Given the description of an element on the screen output the (x, y) to click on. 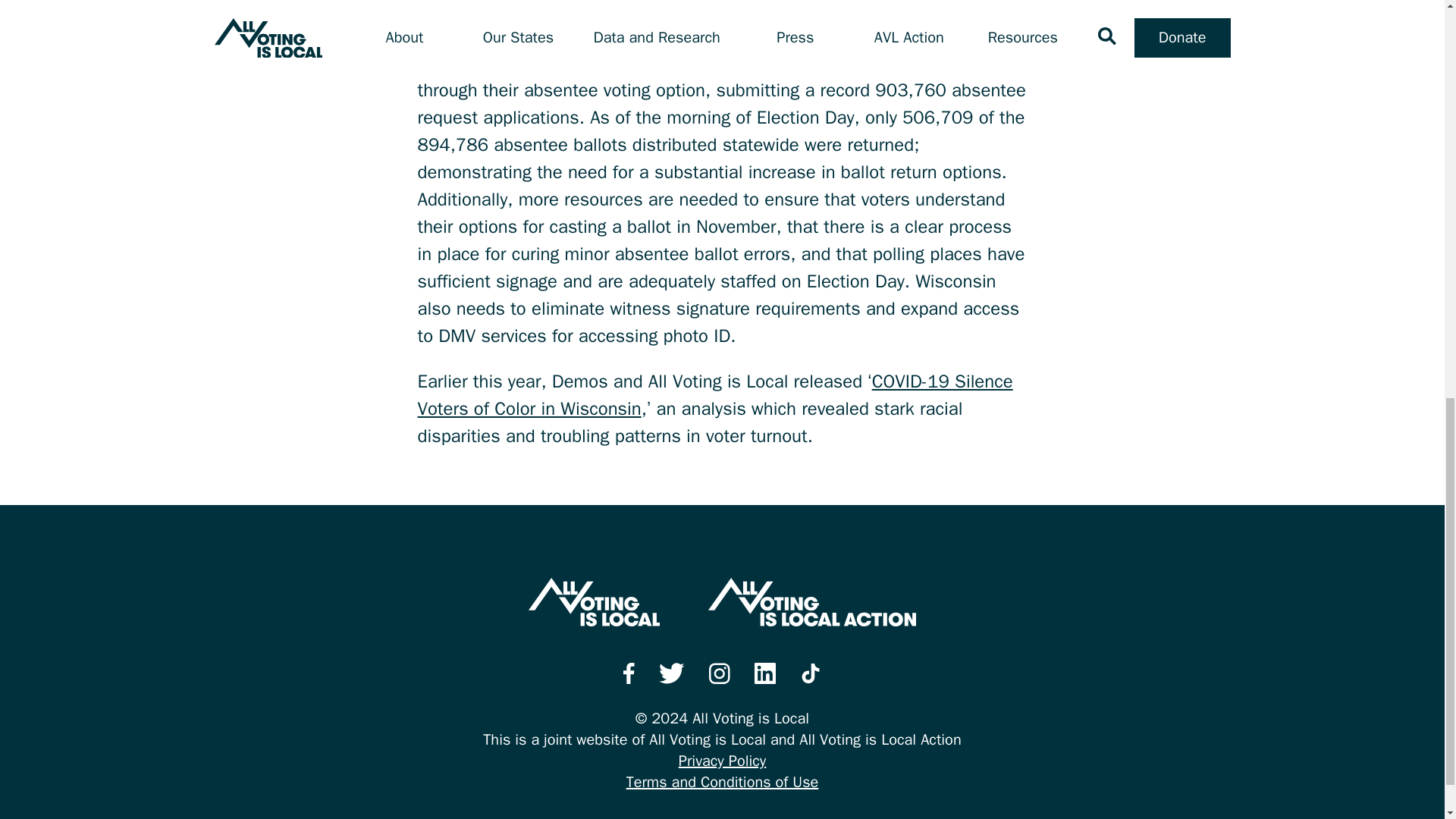
Twitter (671, 672)
COVID-19 Silence Voters of Color in Wisconsin (713, 395)
Facebook (628, 672)
Instagram (719, 672)
